Given the description of an element on the screen output the (x, y) to click on. 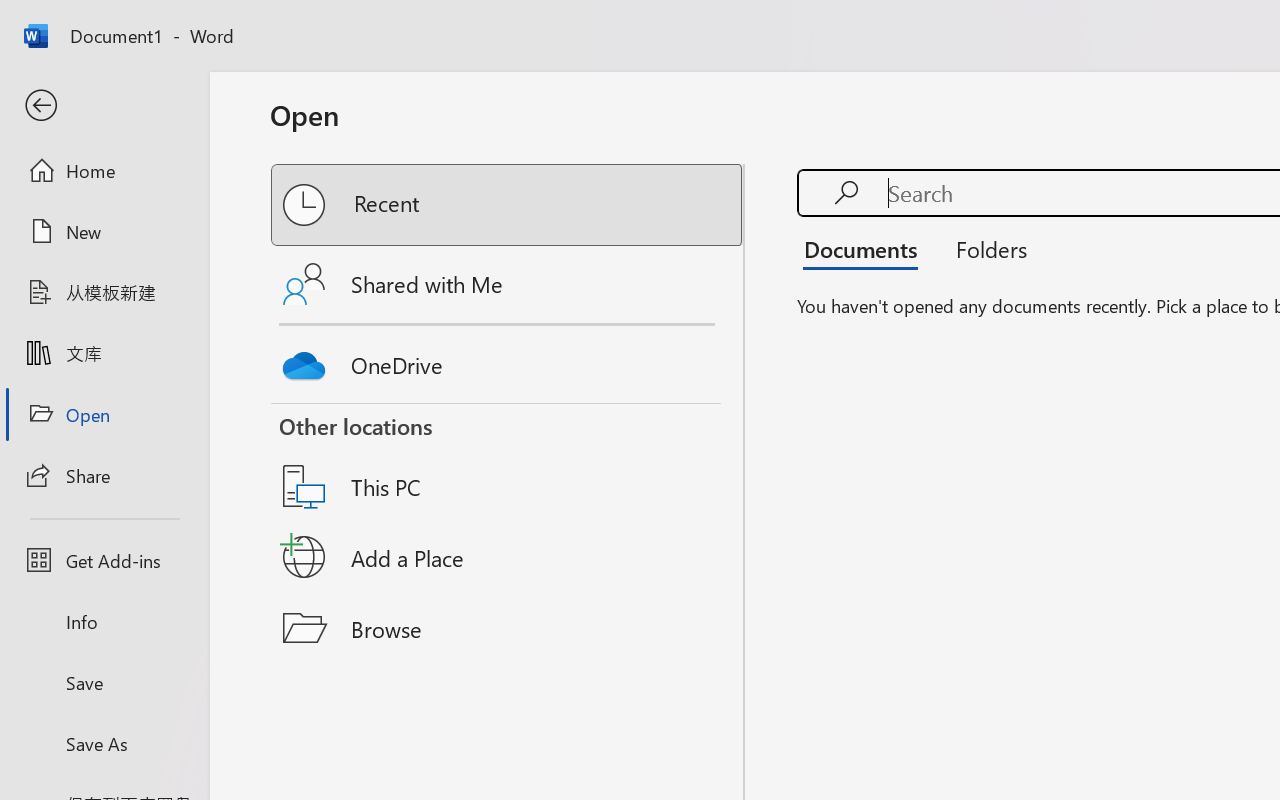
Browse (507, 627)
Back (104, 106)
New (104, 231)
Info (104, 621)
Shared with Me (507, 283)
Save As (104, 743)
Add a Place (507, 557)
OneDrive (507, 359)
This PC (507, 461)
